Given the description of an element on the screen output the (x, y) to click on. 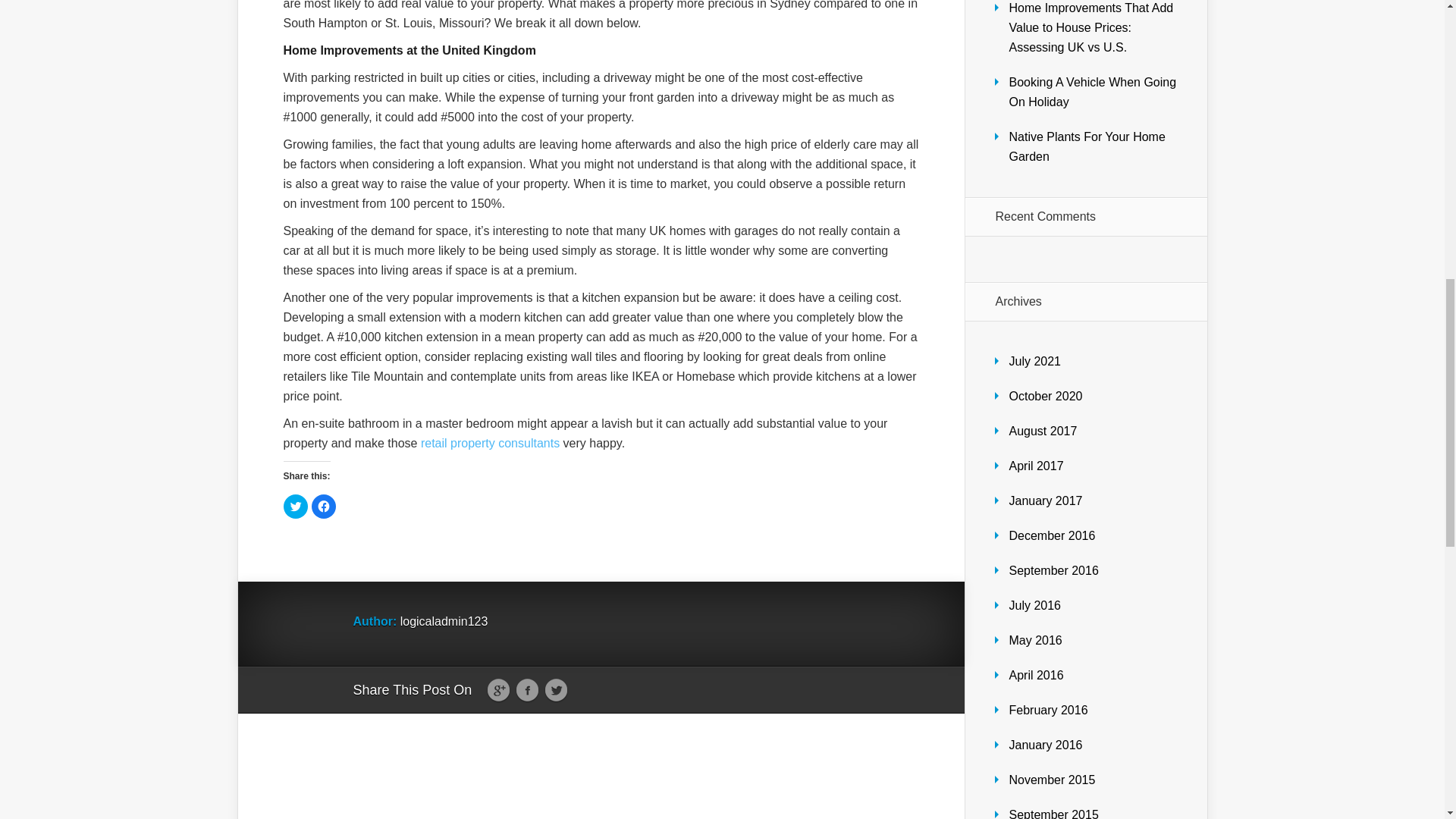
Click to share on Facebook (322, 506)
Click to share on Twitter (295, 506)
